Given the description of an element on the screen output the (x, y) to click on. 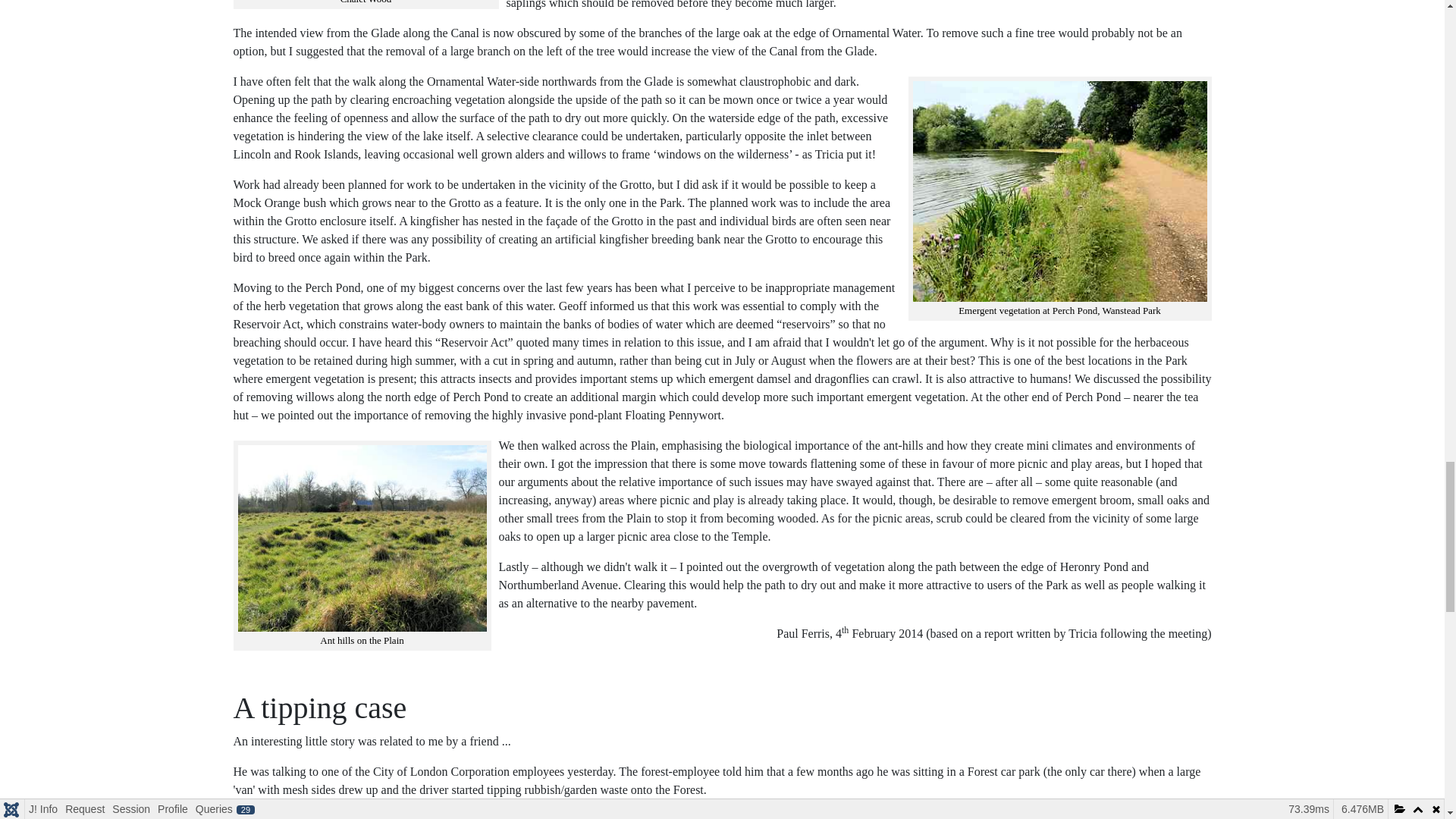
Ant hills on the Plain (362, 538)
Emergent vegetation at Perch Pond, Wanstead Park (1059, 191)
